Given the description of an element on the screen output the (x, y) to click on. 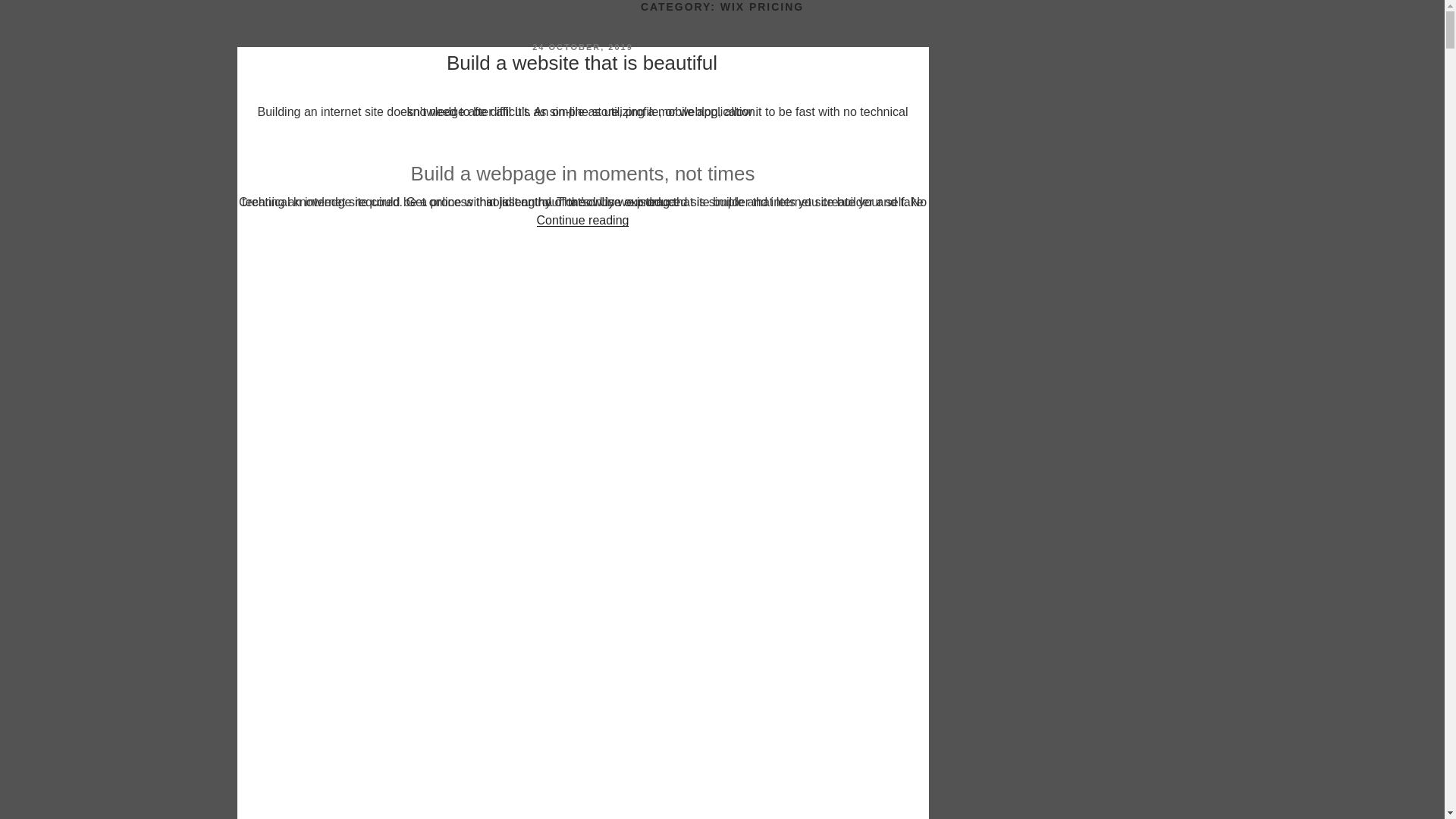
Build a website that is beautiful (581, 62)
24 OCTOBER, 2019 (582, 46)
